Given the description of an element on the screen output the (x, y) to click on. 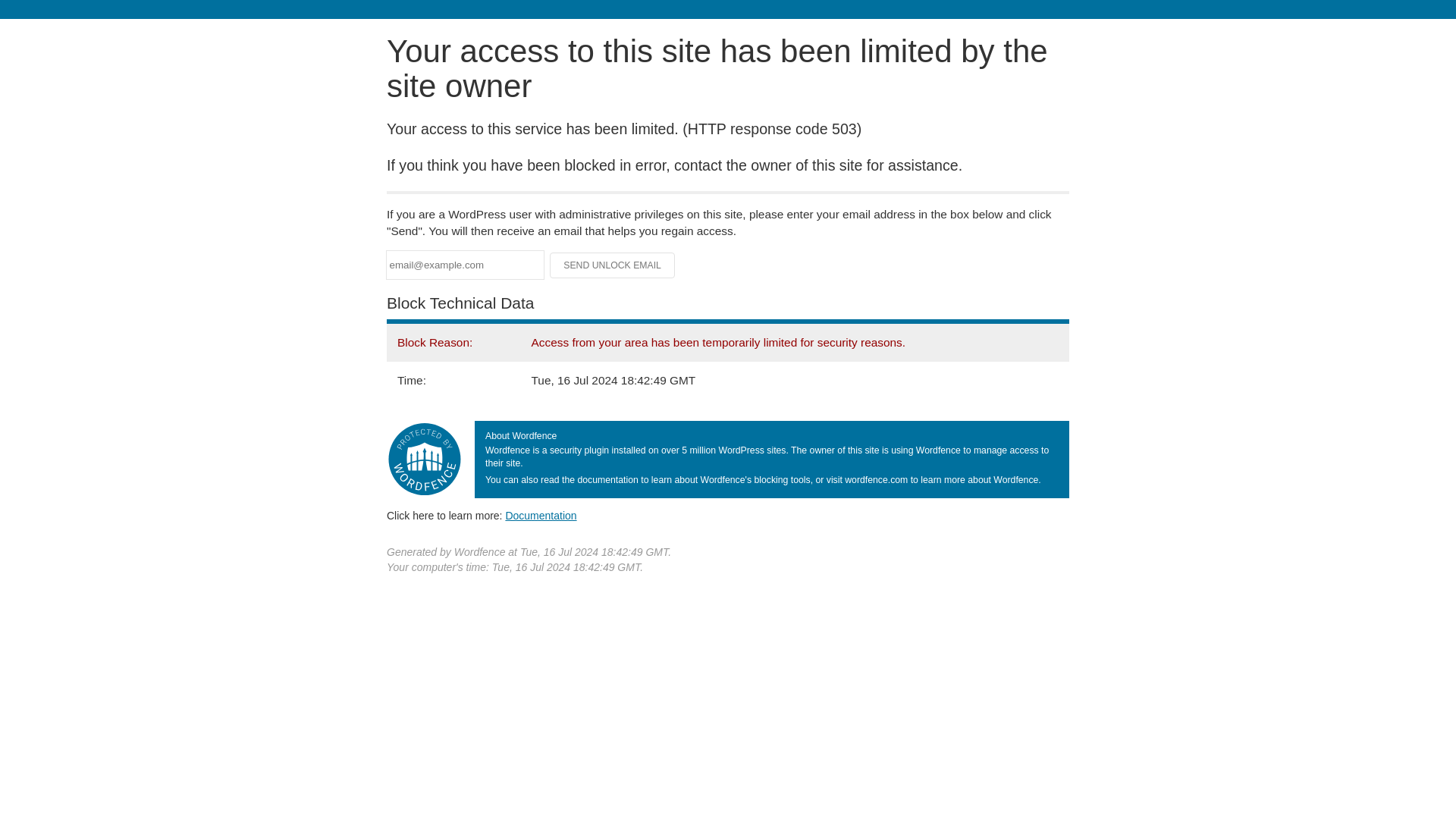
Send Unlock Email (612, 265)
Documentation (540, 515)
Send Unlock Email (612, 265)
